Given the description of an element on the screen output the (x, y) to click on. 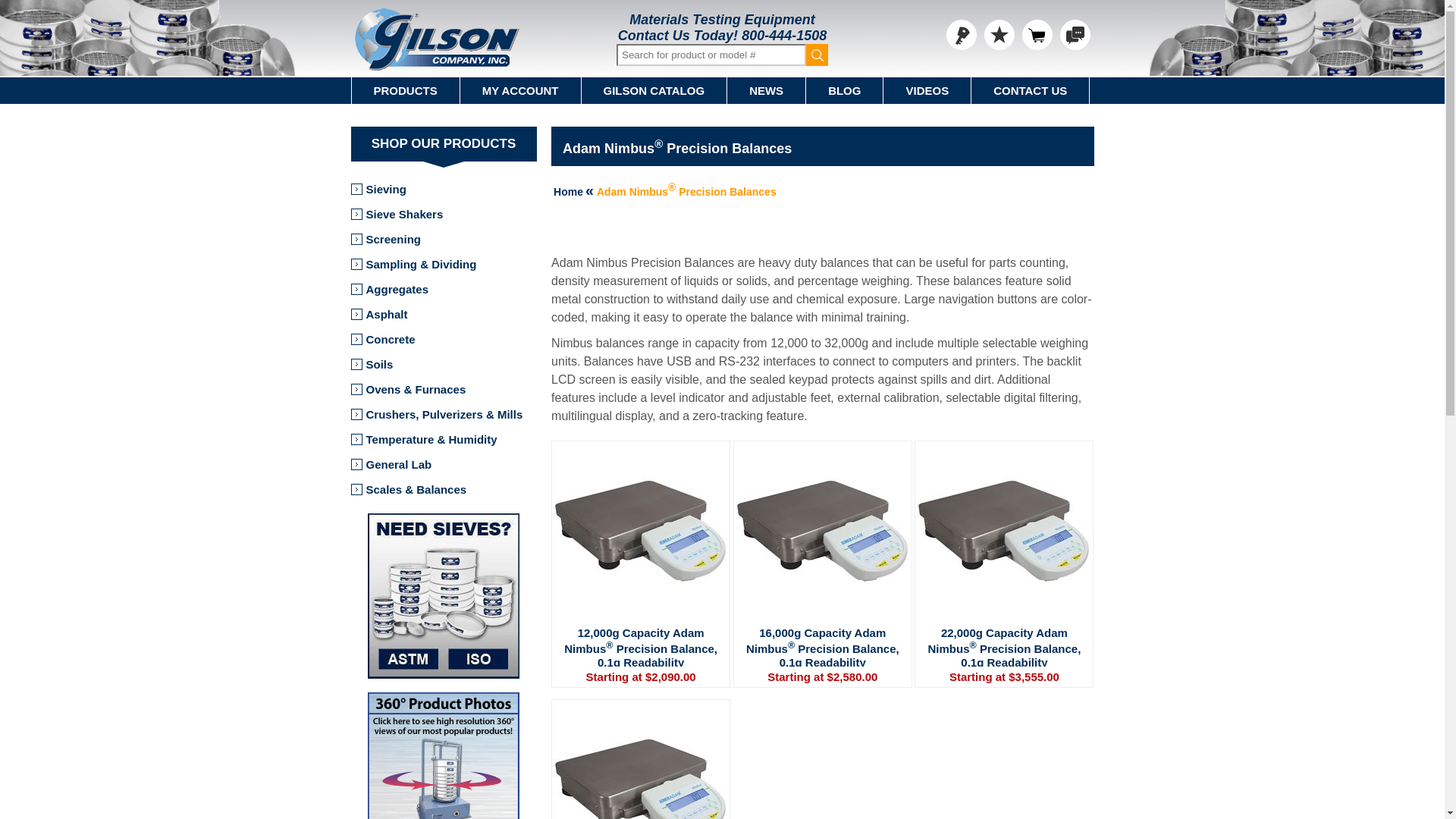
Gilson Chat (1074, 34)
Gilson Chat (1074, 34)
NEWS (766, 90)
Search (817, 55)
Favorites List (999, 34)
GILSON CATALOG (654, 90)
PRODUCTS (406, 90)
Favorites List (999, 34)
BLOG (844, 90)
Search (817, 55)
